Given the description of an element on the screen output the (x, y) to click on. 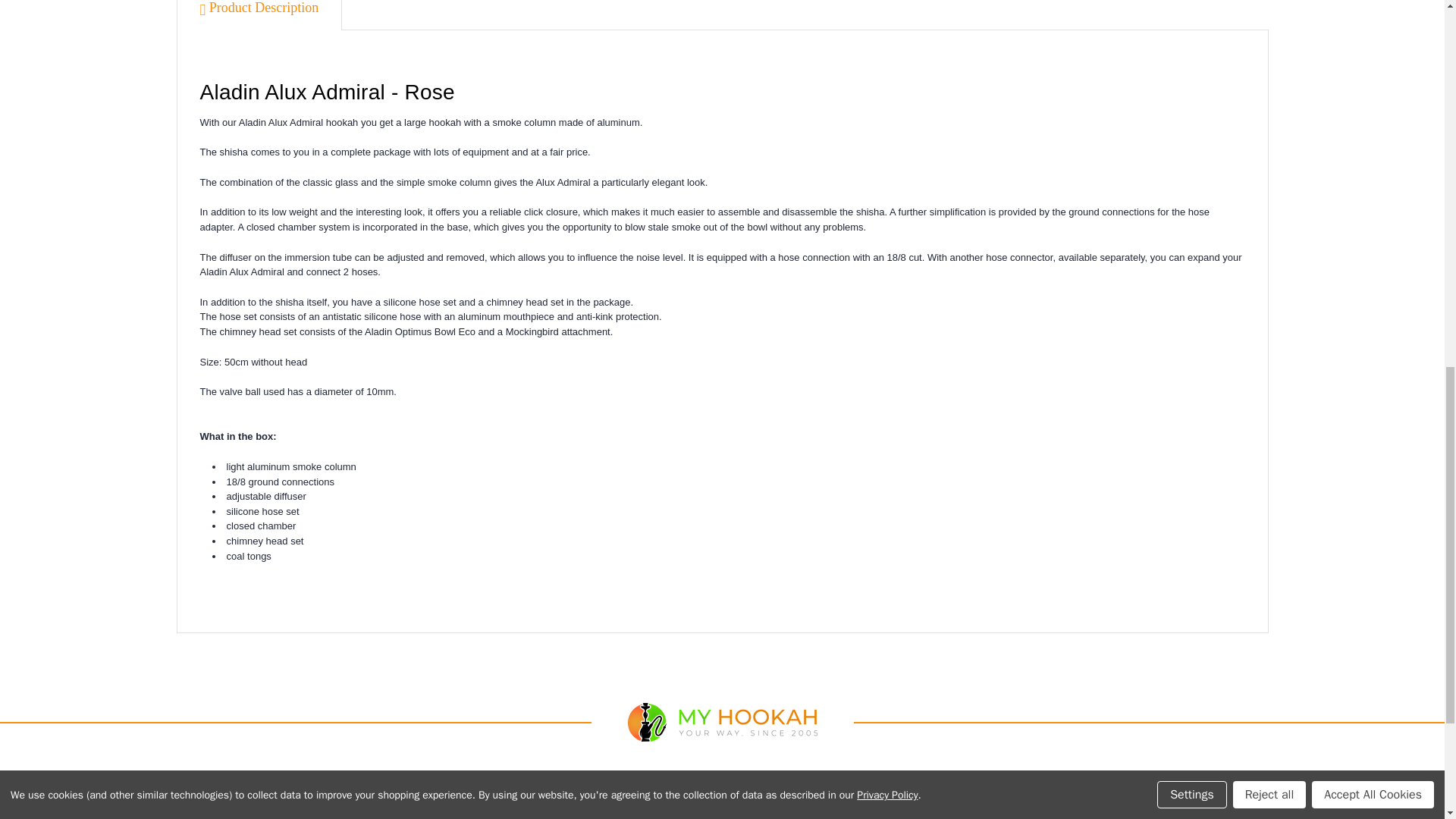
MYHOOKAH (722, 722)
